Given the description of an element on the screen output the (x, y) to click on. 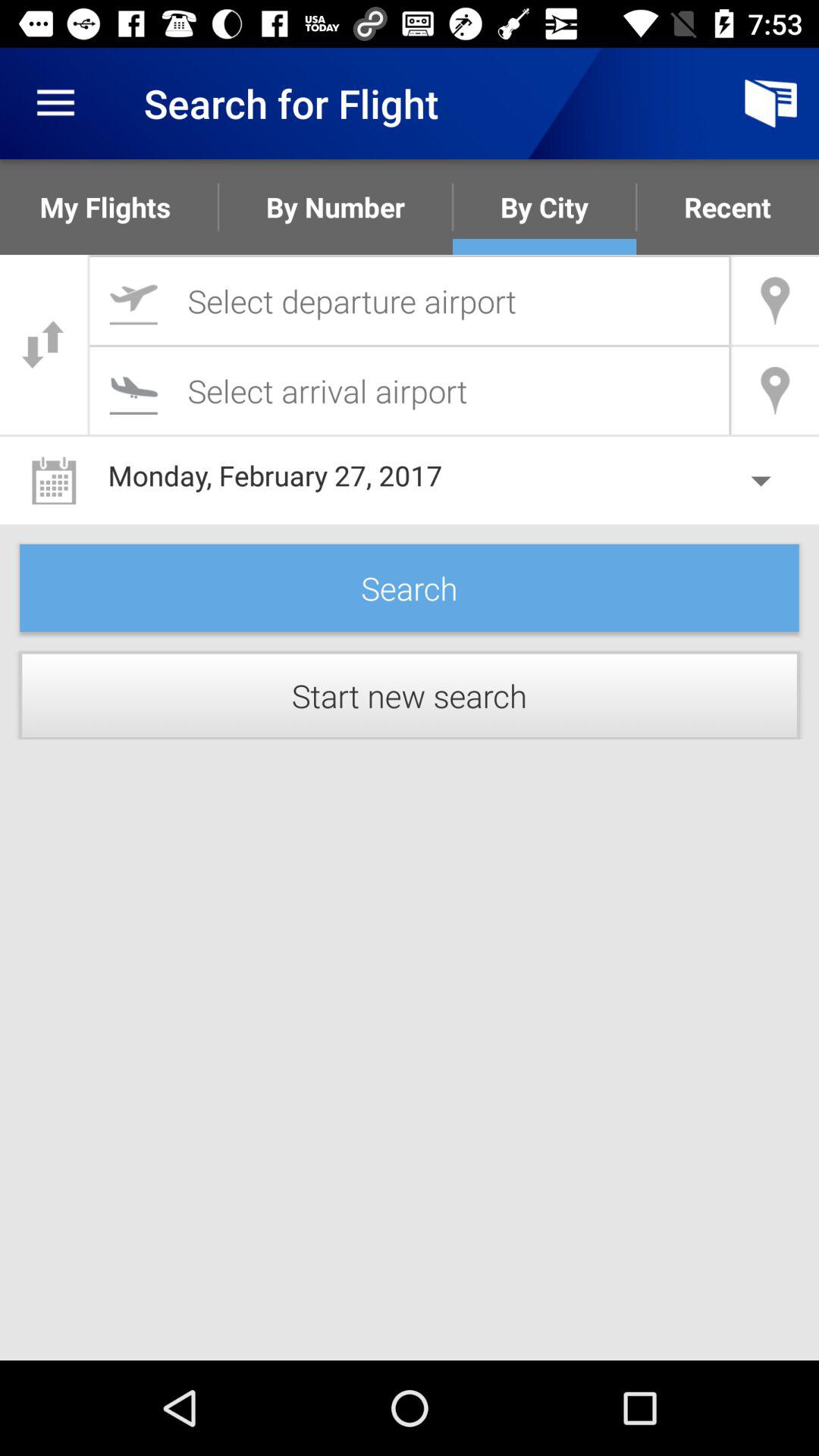
select the departure airport (409, 300)
